Given the description of an element on the screen output the (x, y) to click on. 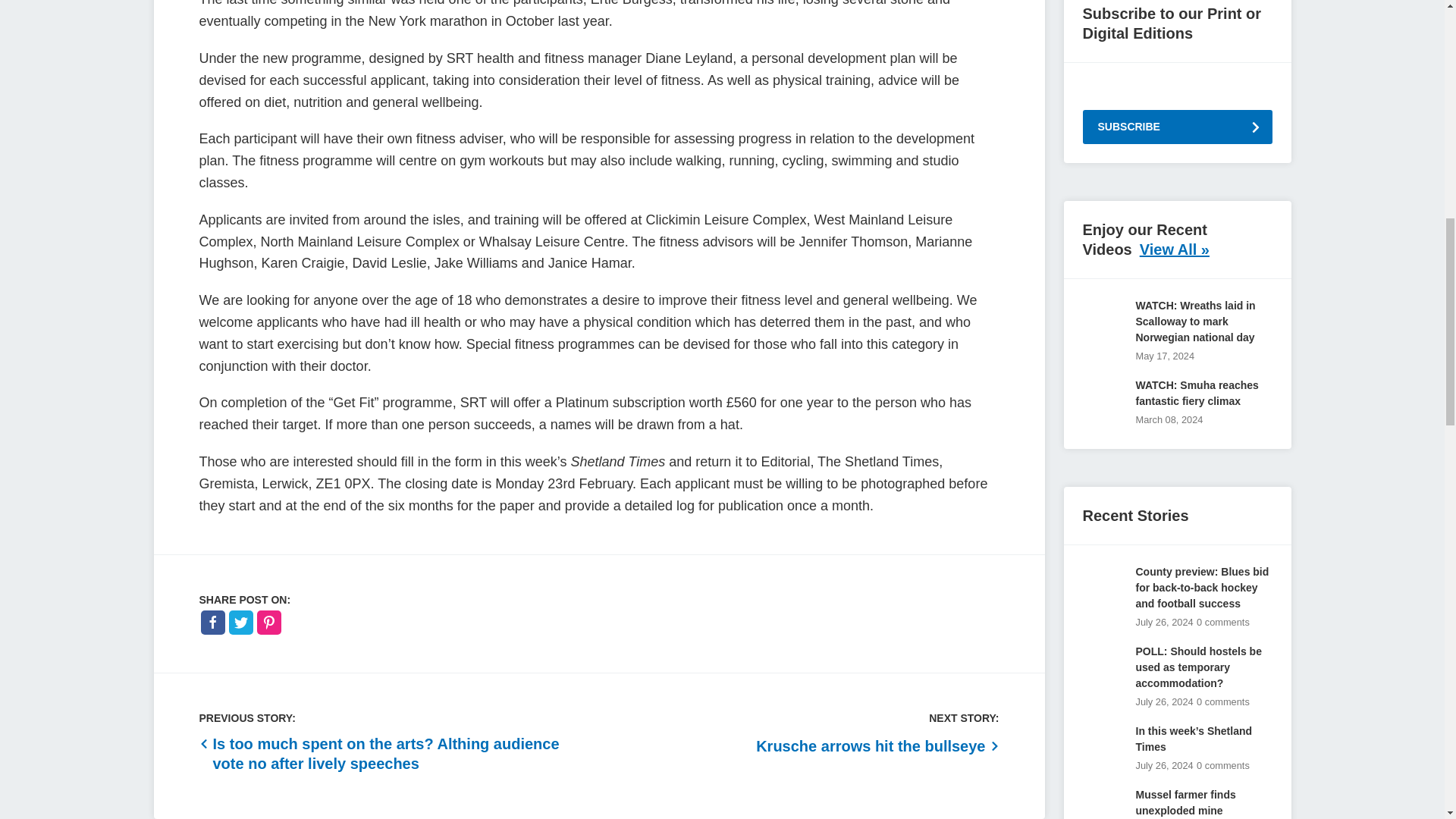
Krusche arrows hit the bullseye (876, 745)
SUBSCRIBE (1177, 126)
